Given the description of an element on the screen output the (x, y) to click on. 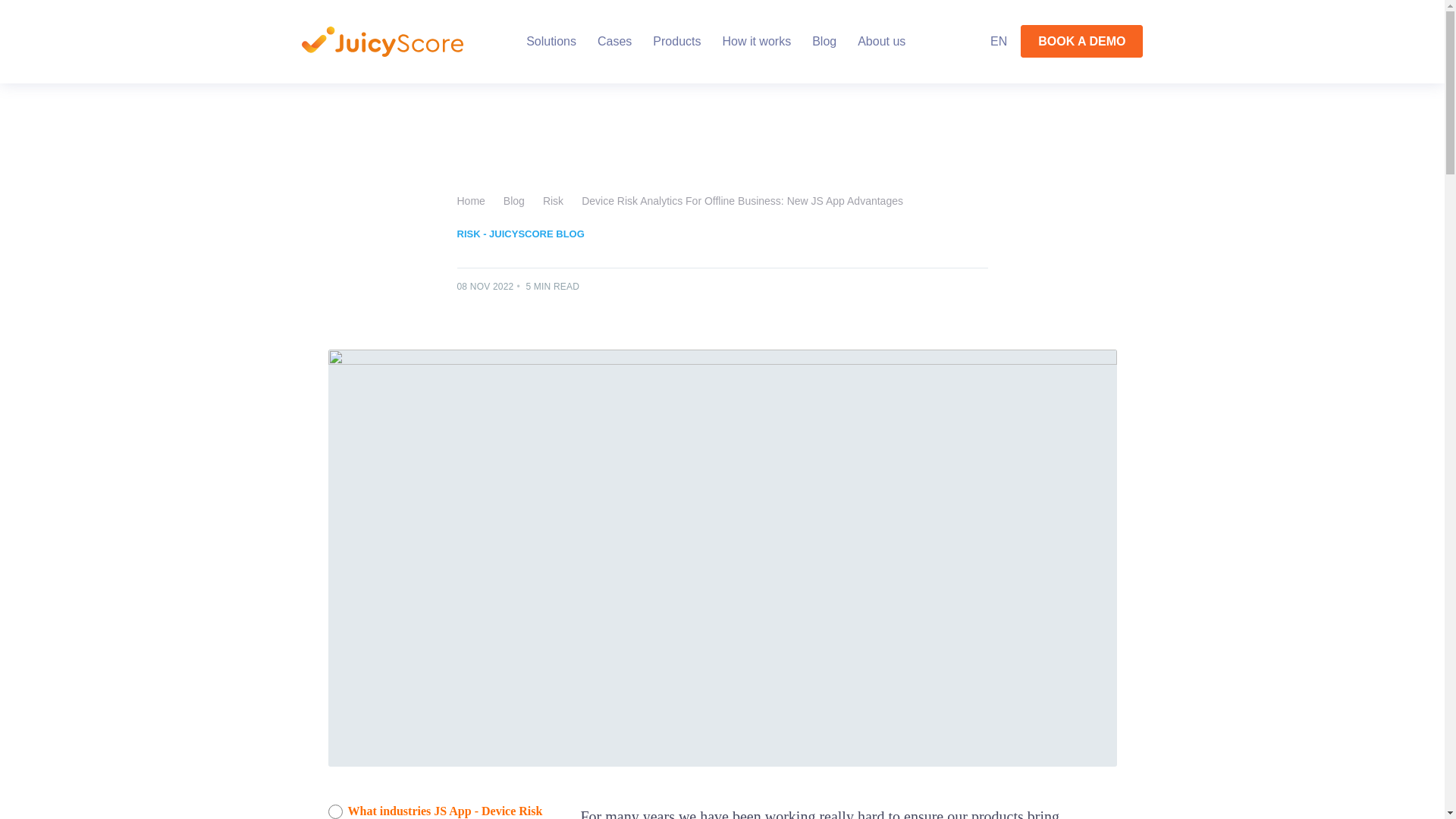
Blog (513, 200)
Blog (823, 41)
Risk (553, 200)
How it works (756, 41)
Cases (613, 41)
RISK - JUICYSCORE BLOG (520, 233)
Cases (613, 41)
Solutions (550, 41)
BOOK A DEMO (1081, 41)
Products (676, 41)
